Given the description of an element on the screen output the (x, y) to click on. 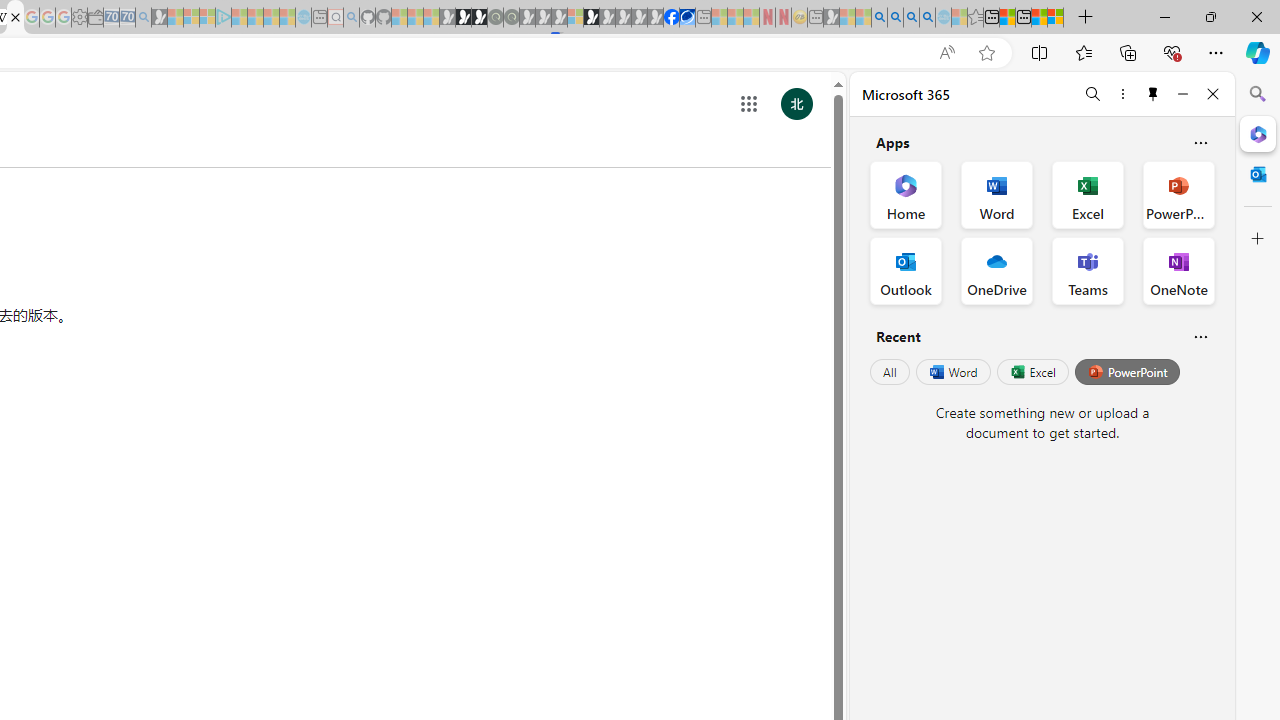
Google Chrome Internet Browser Download - Search Images (927, 17)
New tab - Sleeping (815, 17)
Microsoft Start Gaming - Sleeping (159, 17)
Favorites - Sleeping (975, 17)
Microsoft account | Privacy - Sleeping (207, 17)
Home Office App (906, 194)
Word Office App (996, 194)
